Given the description of an element on the screen output the (x, y) to click on. 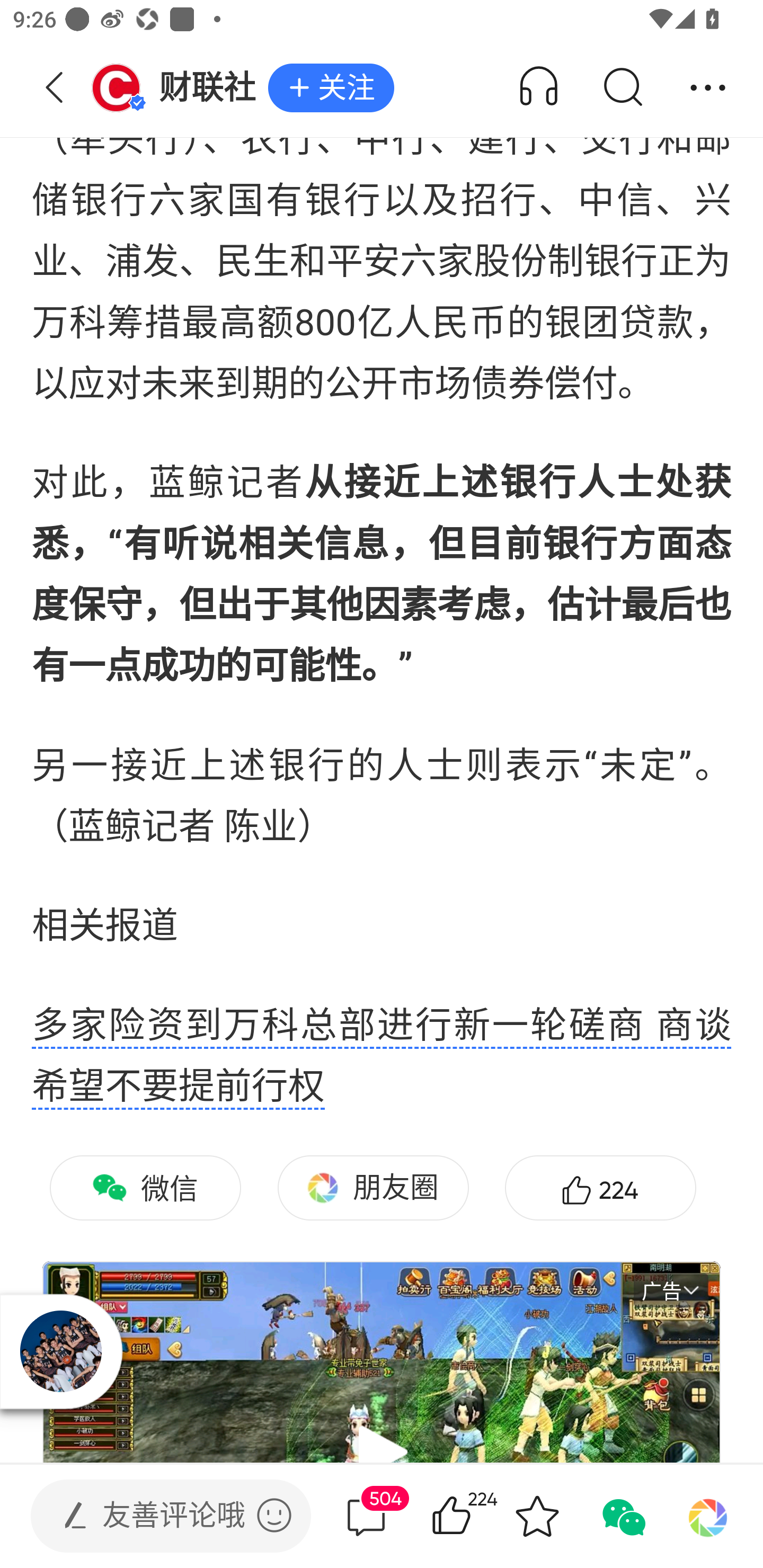
财联社 (179, 87)
搜索  (622, 87)
分享  (707, 87)
 返回 (54, 87)
 关注 (330, 88)
多家险资到万科总部进行新一轮磋商 商谈希望不要提前行权 (381, 1056)
微信 分享到微信 朋友圈 分享到朋友圈 224赞 (381, 1207)
微信 分享到微信 (145, 1187)
朋友圈 分享到朋友圈 (373, 1187)
224赞 (600, 1187)
广告 (671, 1290)
播放器 (61, 1351)
发表评论  友善评论哦 发表评论  (155, 1516)
504评论  504 评论 (365, 1516)
224赞 (476, 1516)
收藏  (536, 1516)
分享到微信  (622, 1516)
分享到朋友圈 (707, 1516)
 (274, 1515)
